Given the description of an element on the screen output the (x, y) to click on. 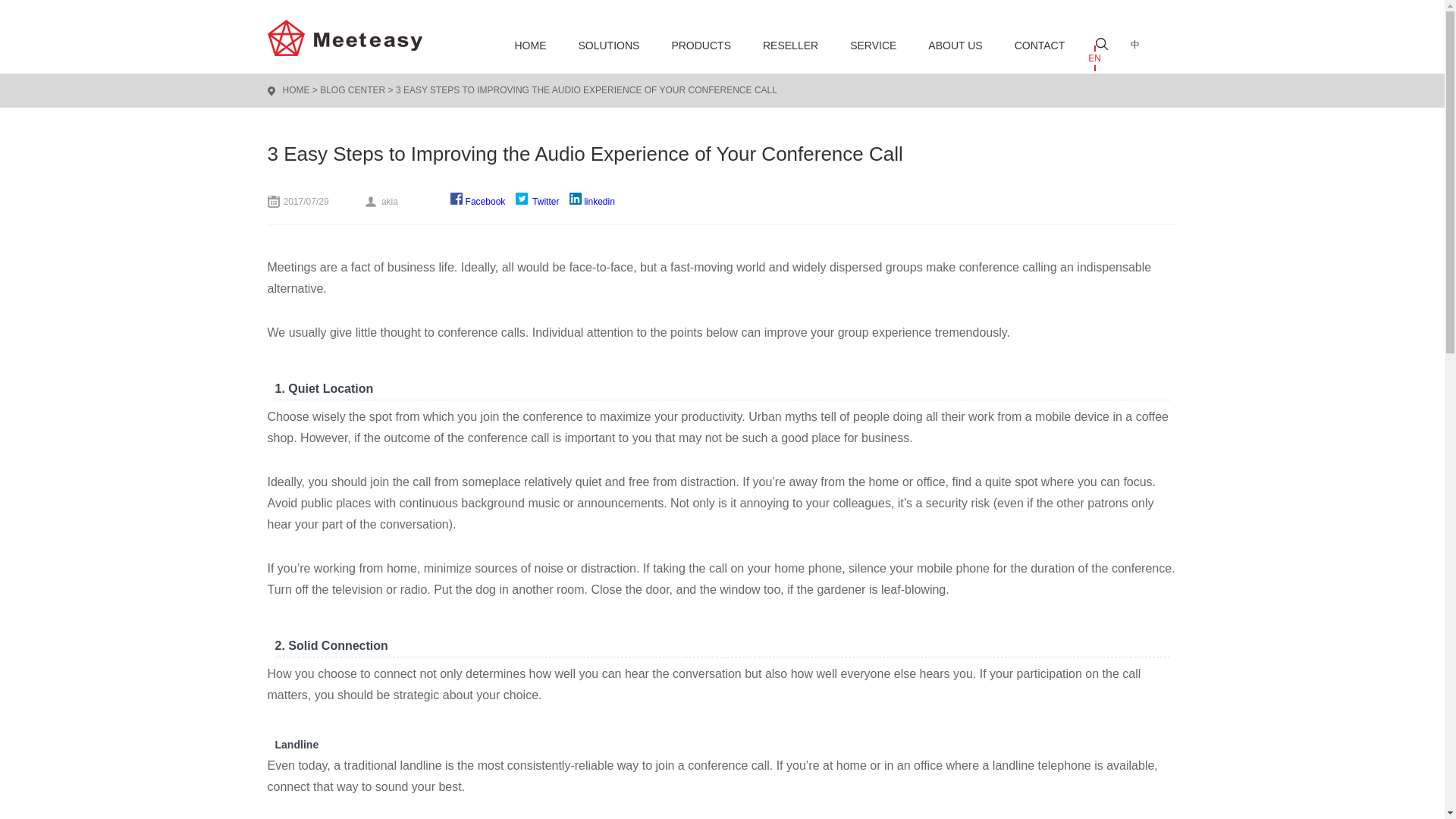
 linkedin (591, 201)
HOME (295, 90)
SERVICE (873, 45)
ABOUT US (954, 45)
EN (1093, 58)
CONTACT (1039, 45)
SOLUTIONS (608, 45)
share Twitter (537, 201)
PRODUCTS (700, 45)
RESELLER (790, 45)
